Given the description of an element on the screen output the (x, y) to click on. 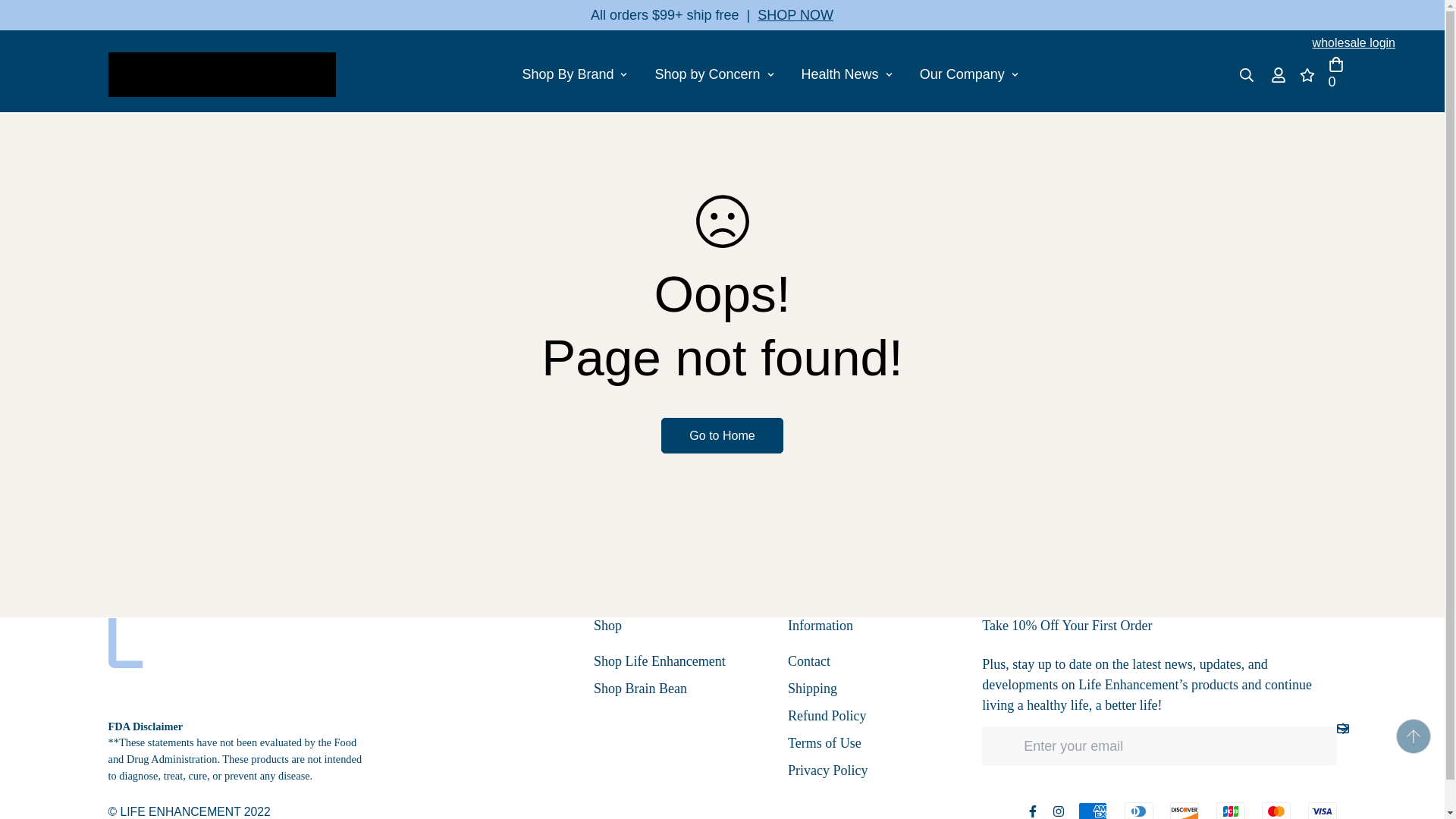
wholesale login (769, 74)
Shop By Brand (1353, 42)
Health News (574, 74)
Life Enhancement Products (846, 74)
Shop by Concern (220, 74)
Our Company (770, 74)
